Given the description of an element on the screen output the (x, y) to click on. 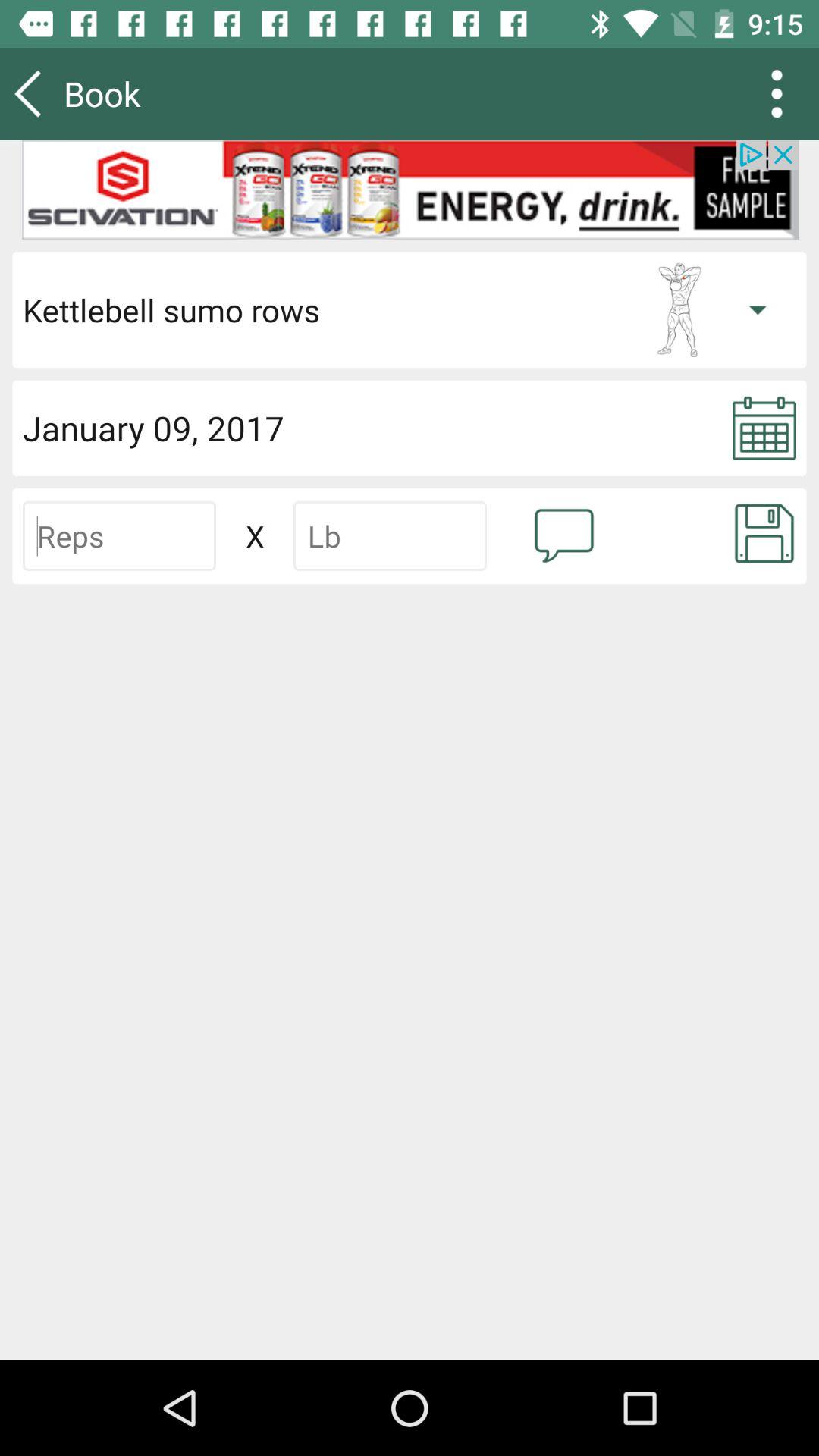
reps option (119, 536)
